Given the description of an element on the screen output the (x, y) to click on. 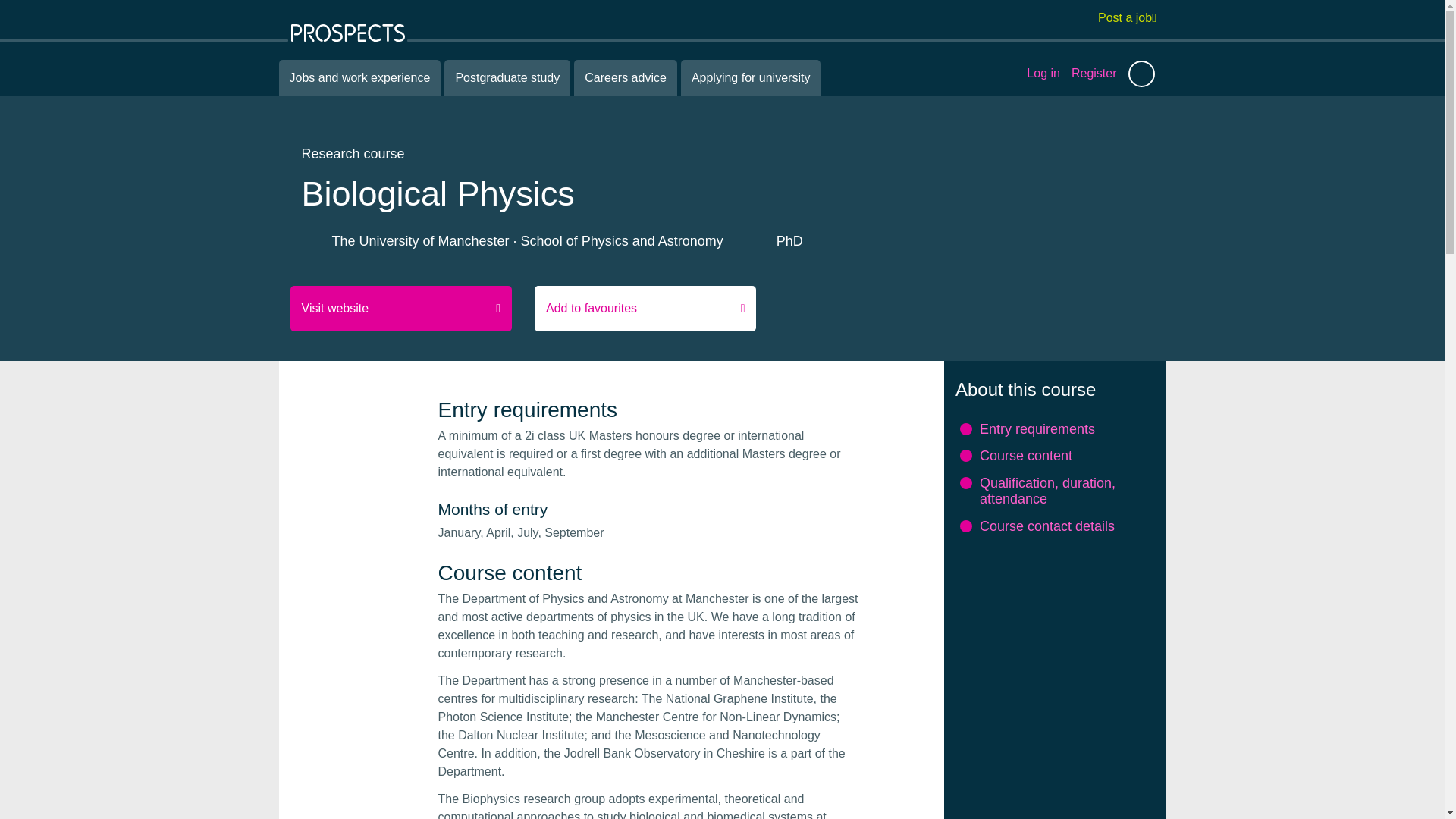
Site search (1141, 73)
Postgraduate study (507, 77)
Post a job (1126, 18)
Jobs and work experience (360, 77)
Applying for university (751, 77)
Careers advice (625, 77)
